Given the description of an element on the screen output the (x, y) to click on. 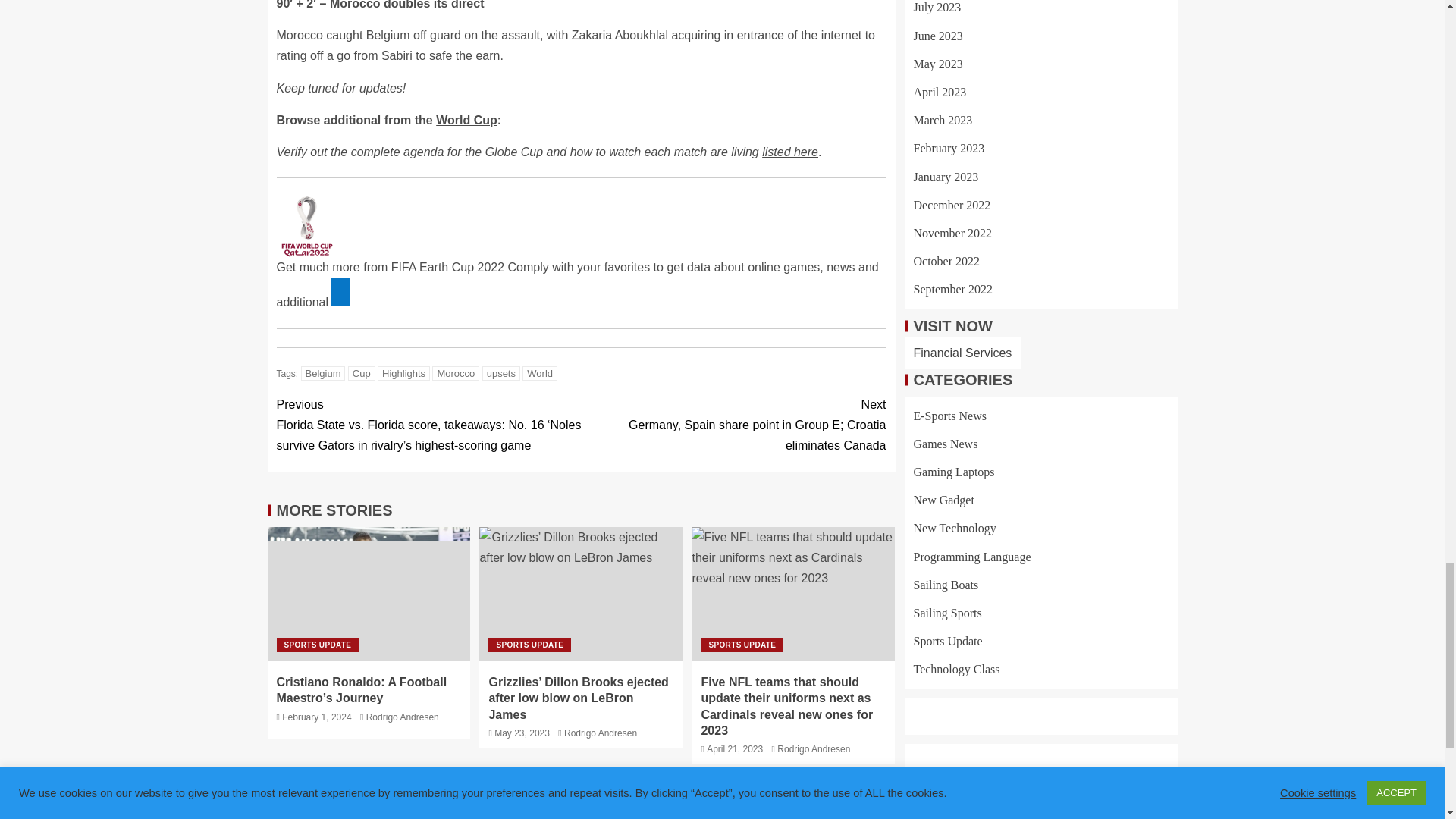
Cup (361, 373)
upsets (500, 373)
SPORTS UPDATE (317, 644)
Morocco (455, 373)
World (539, 373)
How to Promote Your Stream as an Online Gamer (376, 811)
Rodrigo Andresen (402, 716)
Sail Away: Unveiling the Allure of Sailing Boats (836, 811)
Dota 2: Unraveling the Epic Journey (1066, 811)
